Given the description of an element on the screen output the (x, y) to click on. 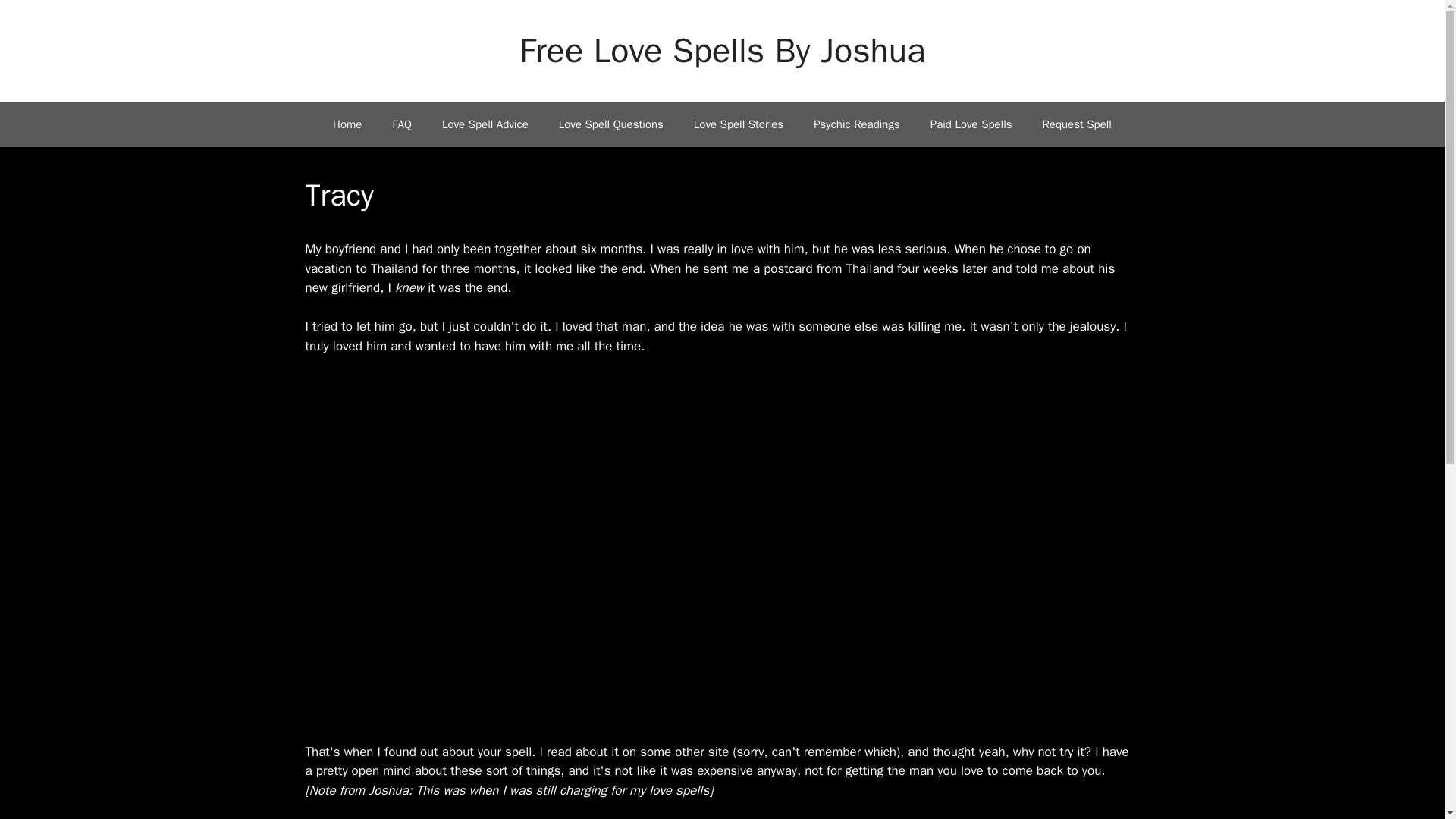
Love Spell Stories (737, 124)
Psychic Readings (856, 124)
Free Love Spells By Joshua (722, 50)
Home (347, 124)
Request Spell (1076, 124)
Advertisement (721, 641)
Love Spell Questions (610, 124)
Love Spell Advice (484, 124)
FAQ (401, 124)
Paid Love Spells (971, 124)
